Given the description of an element on the screen output the (x, y) to click on. 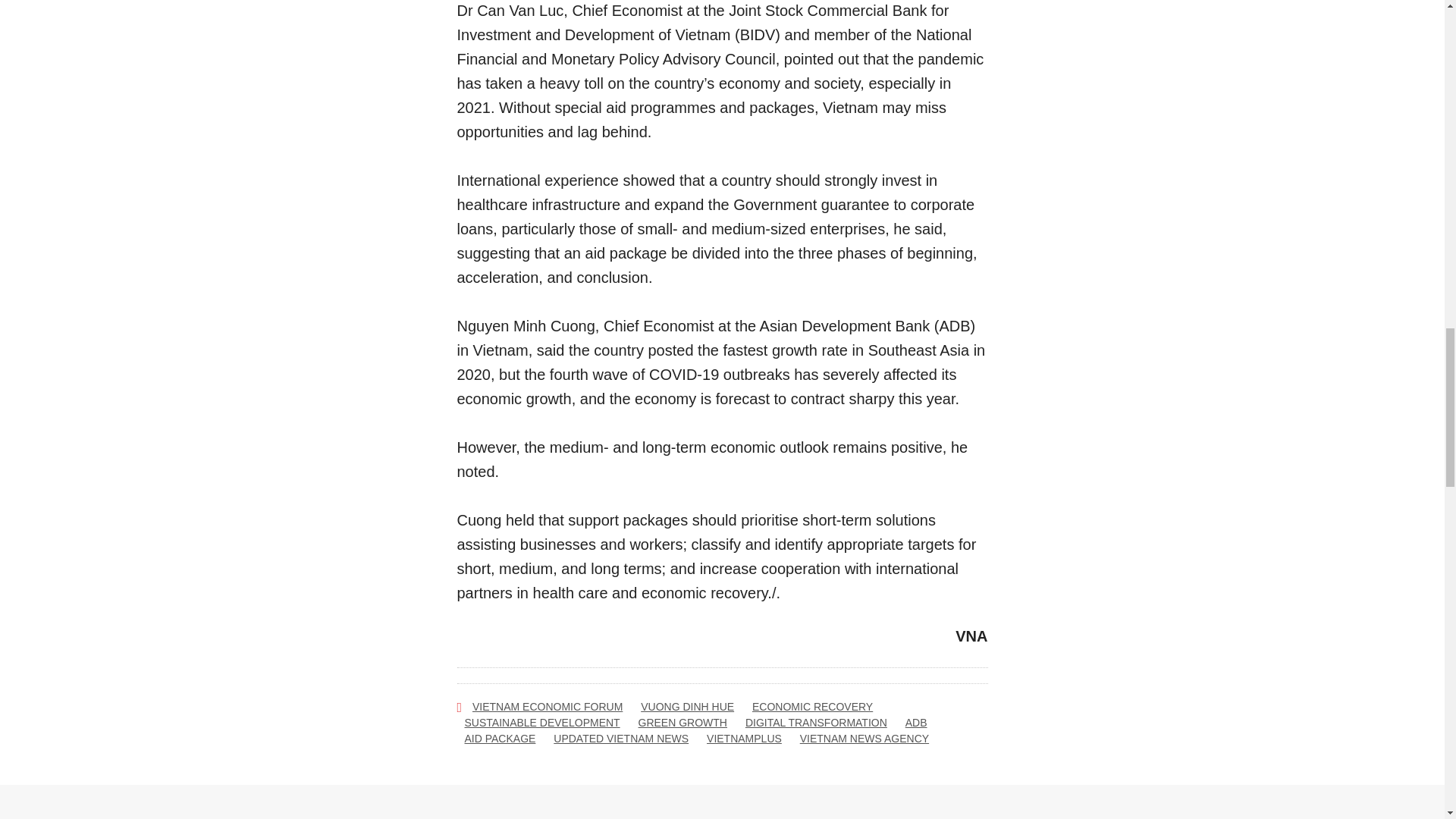
UPDATED VIETNAM NEWS (620, 738)
GREEN GROWTH (682, 722)
AID PACKAGE (499, 738)
Vietnam Economic Forum (547, 706)
 Vuong Dinh Hue (686, 706)
DIGITAL TRANSFORMATION (815, 722)
 aid package (499, 738)
 updated Vietnam news (620, 738)
VIETNAMPLUS (743, 738)
 ADB (916, 722)
